Given the description of an element on the screen output the (x, y) to click on. 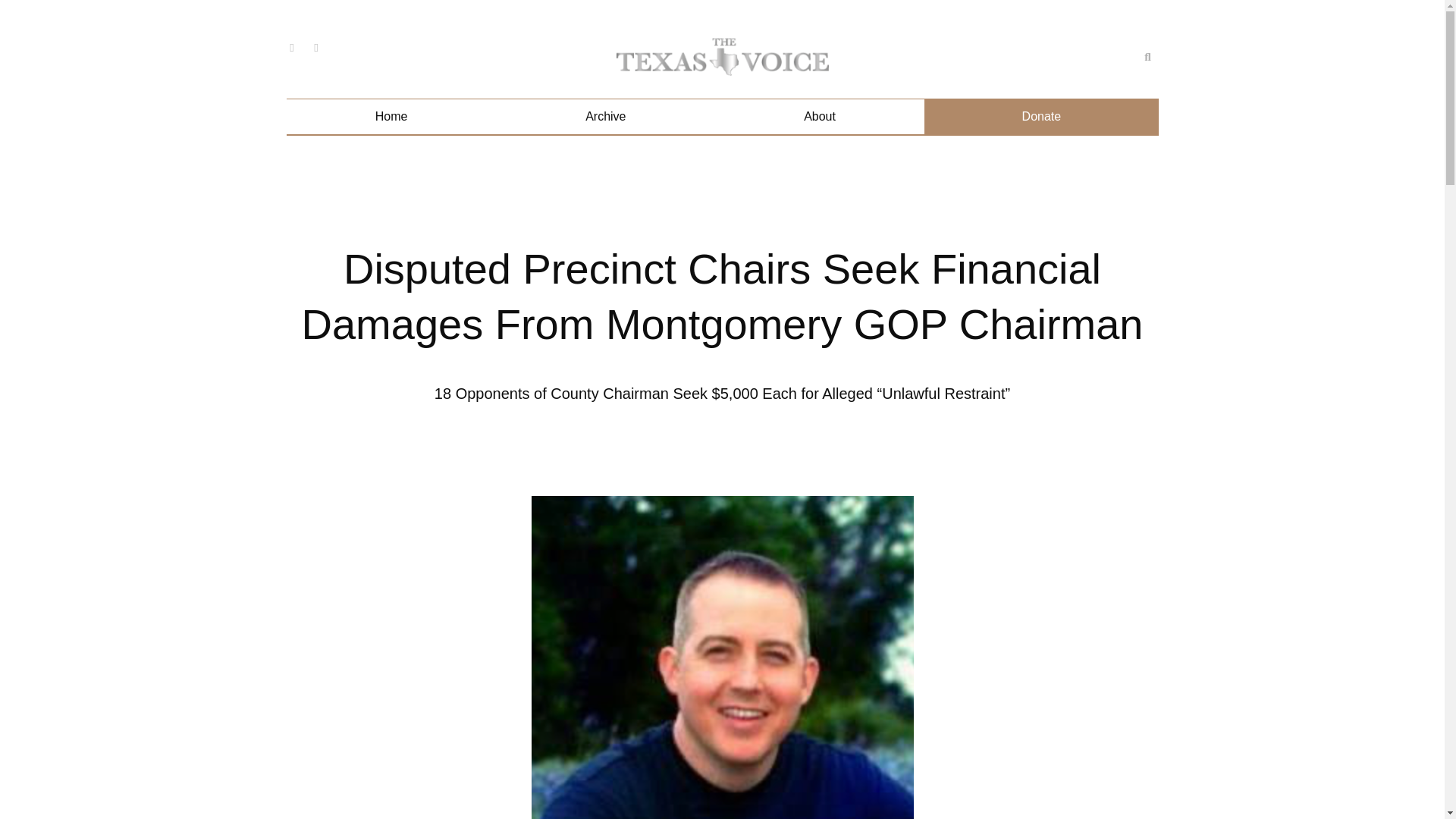
Home (391, 116)
Donate (1040, 116)
About (819, 116)
Archive (605, 116)
